Given the description of an element on the screen output the (x, y) to click on. 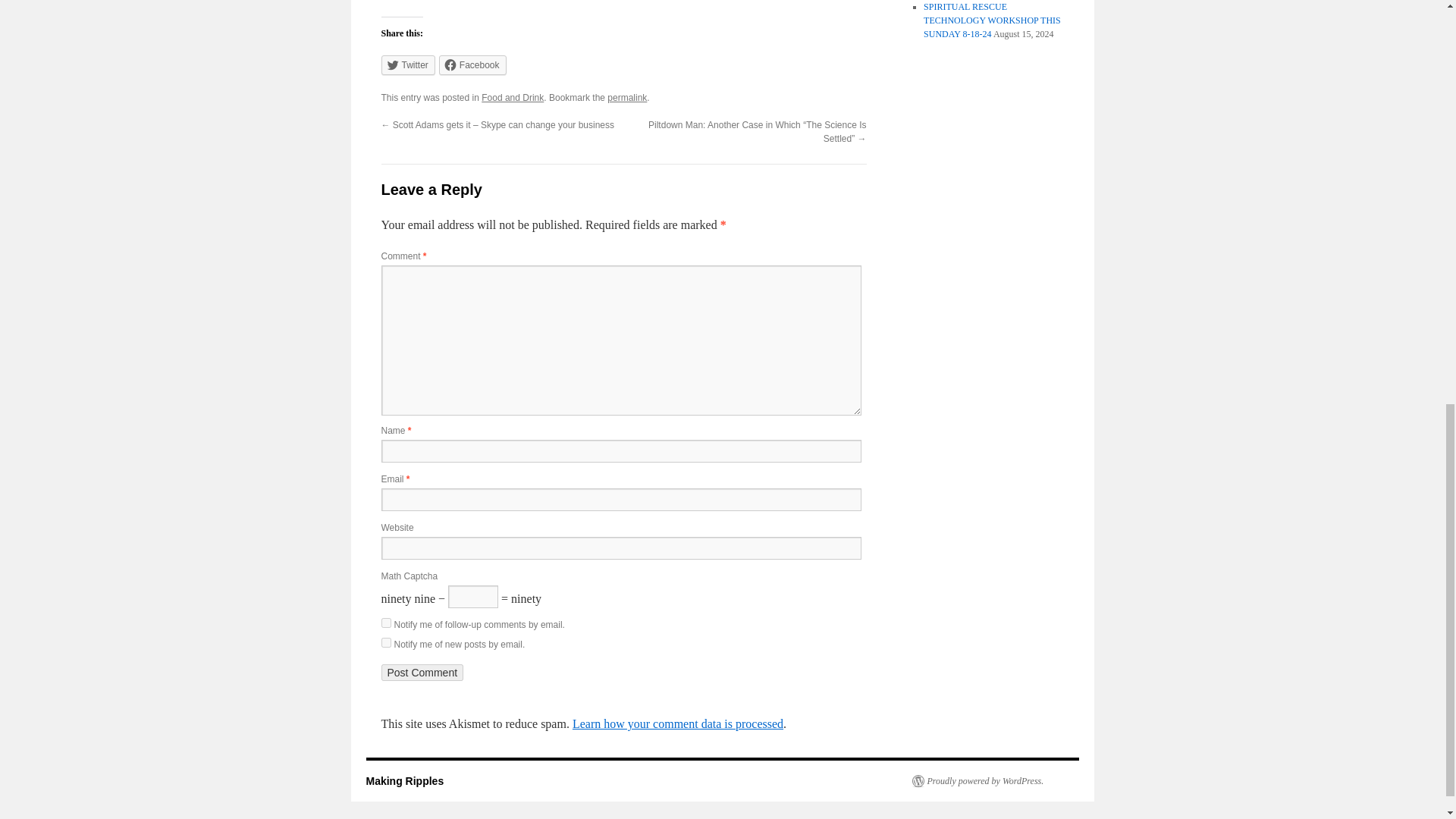
permalink (626, 97)
Semantic Personal Publishing Platform (977, 780)
Click to share on Facebook (472, 65)
Facebook (472, 65)
Twitter (406, 65)
Food and Drink (512, 97)
Proudly powered by WordPress. (977, 780)
SPIRITUAL RESCUE TECHNOLOGY WORKSHOP THIS SUNDAY 8-18-24 (992, 20)
Making Ripples (404, 780)
